Given the description of an element on the screen output the (x, y) to click on. 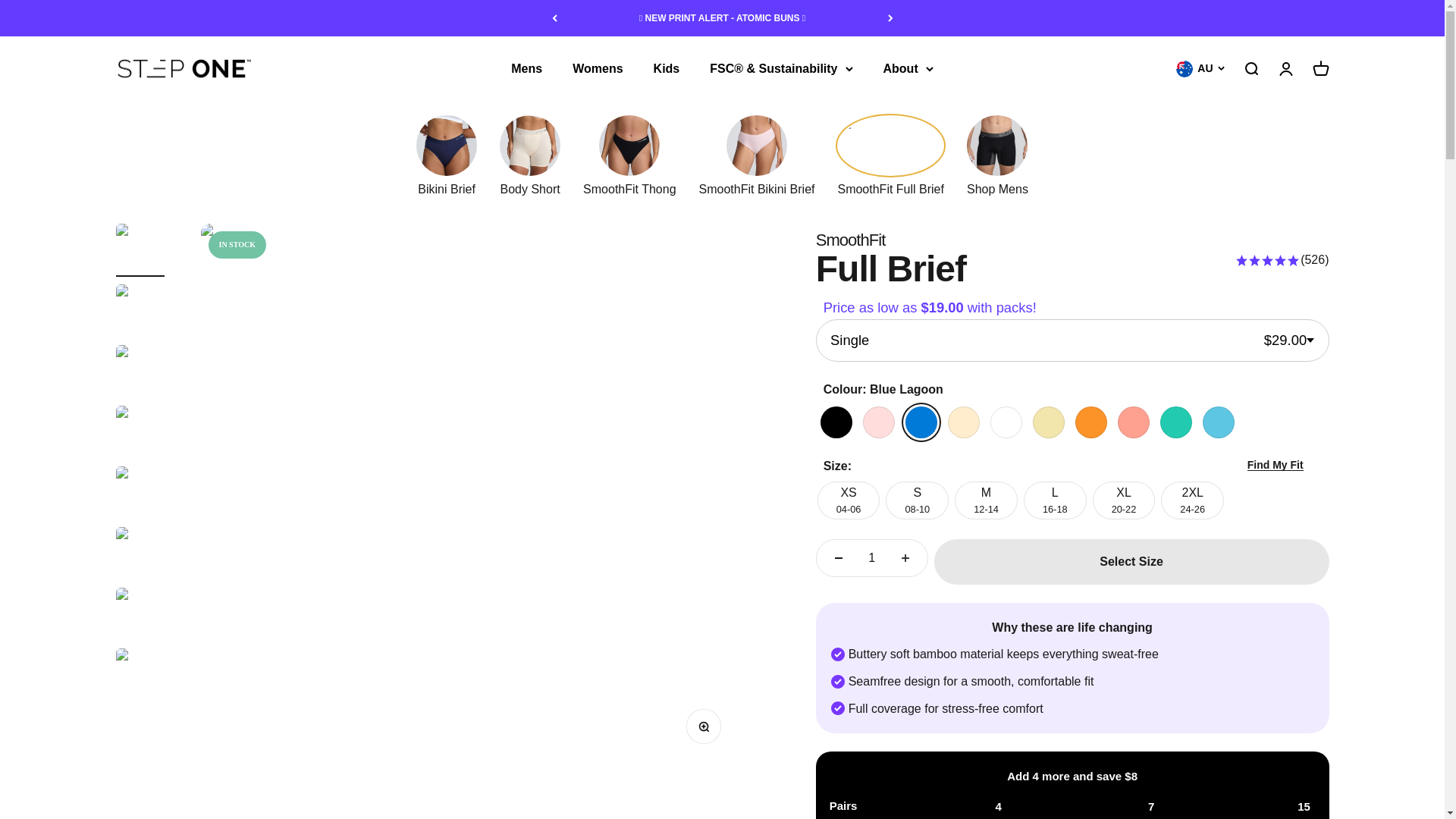
Womens (597, 68)
Open search (1250, 68)
Open account page (1285, 68)
Step One (1072, 499)
Medium (183, 68)
